Given the description of an element on the screen output the (x, y) to click on. 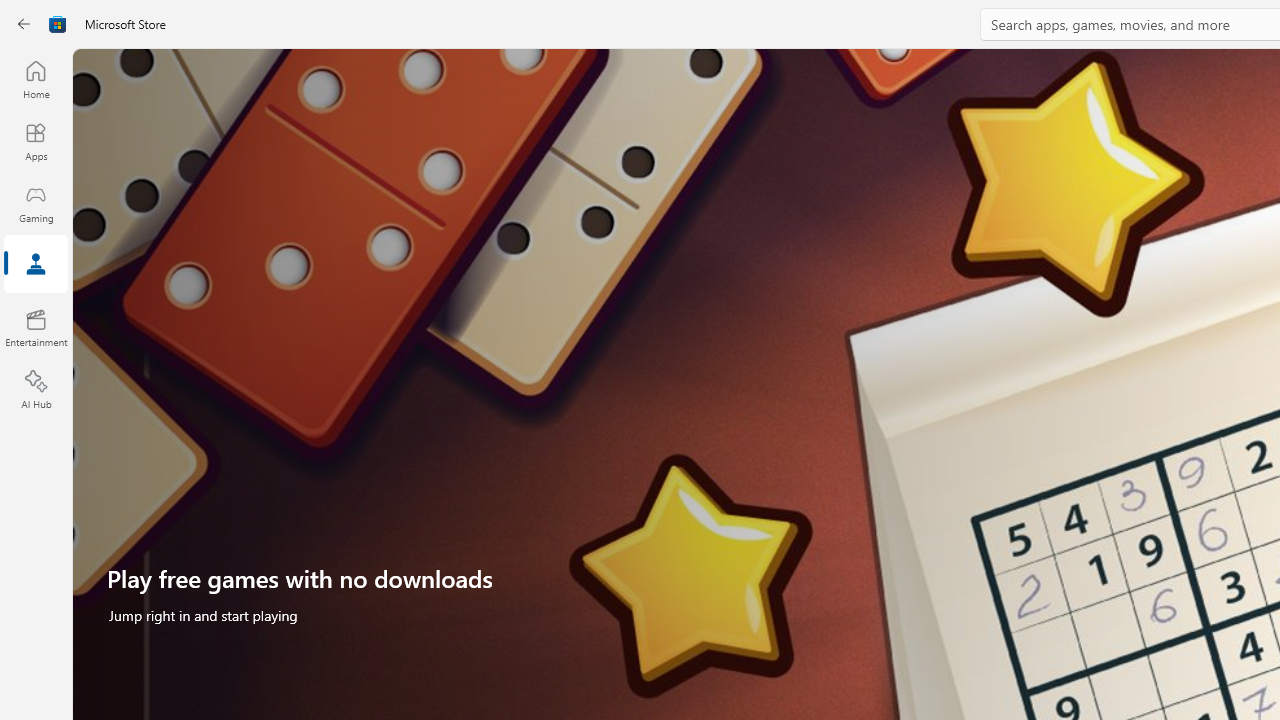
Arcade (35, 265)
Class: Image (58, 24)
Home (35, 79)
Gaming (35, 203)
Back (24, 24)
Apps (35, 141)
AI Hub (35, 390)
Entertainment (35, 327)
